Given the description of an element on the screen output the (x, y) to click on. 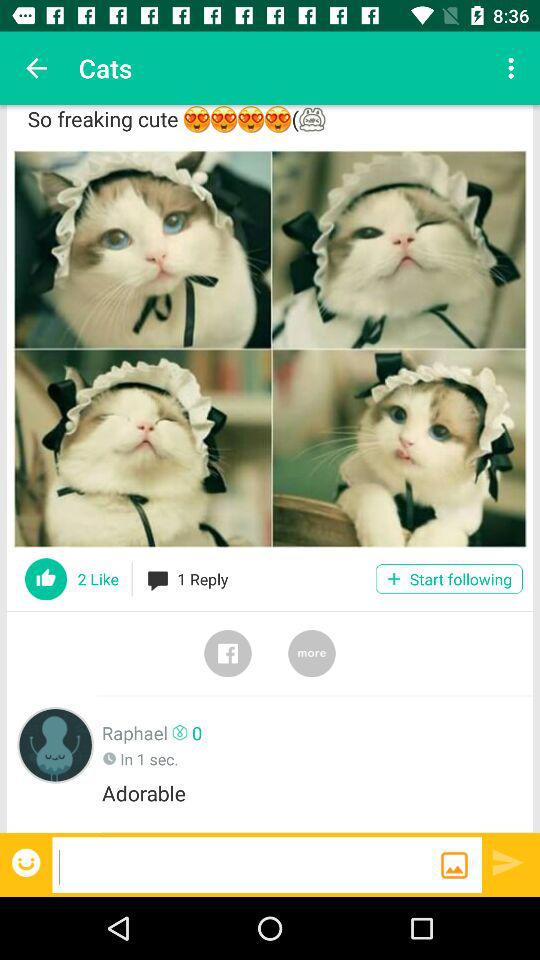
emoji (28, 862)
